Given the description of an element on the screen output the (x, y) to click on. 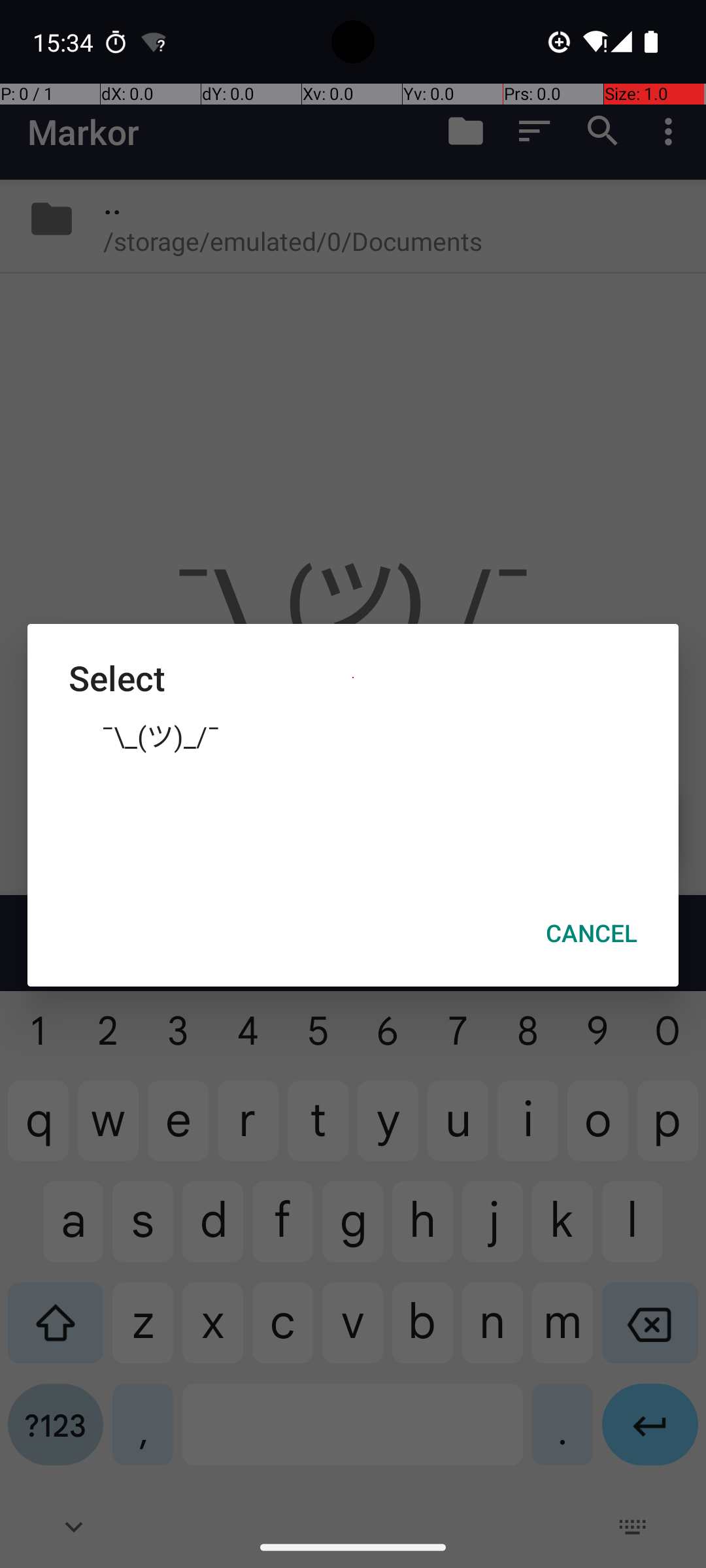
     ¯\_(ツ)_/¯      Element type: android.widget.TextView (352, 734)
